Given the description of an element on the screen output the (x, y) to click on. 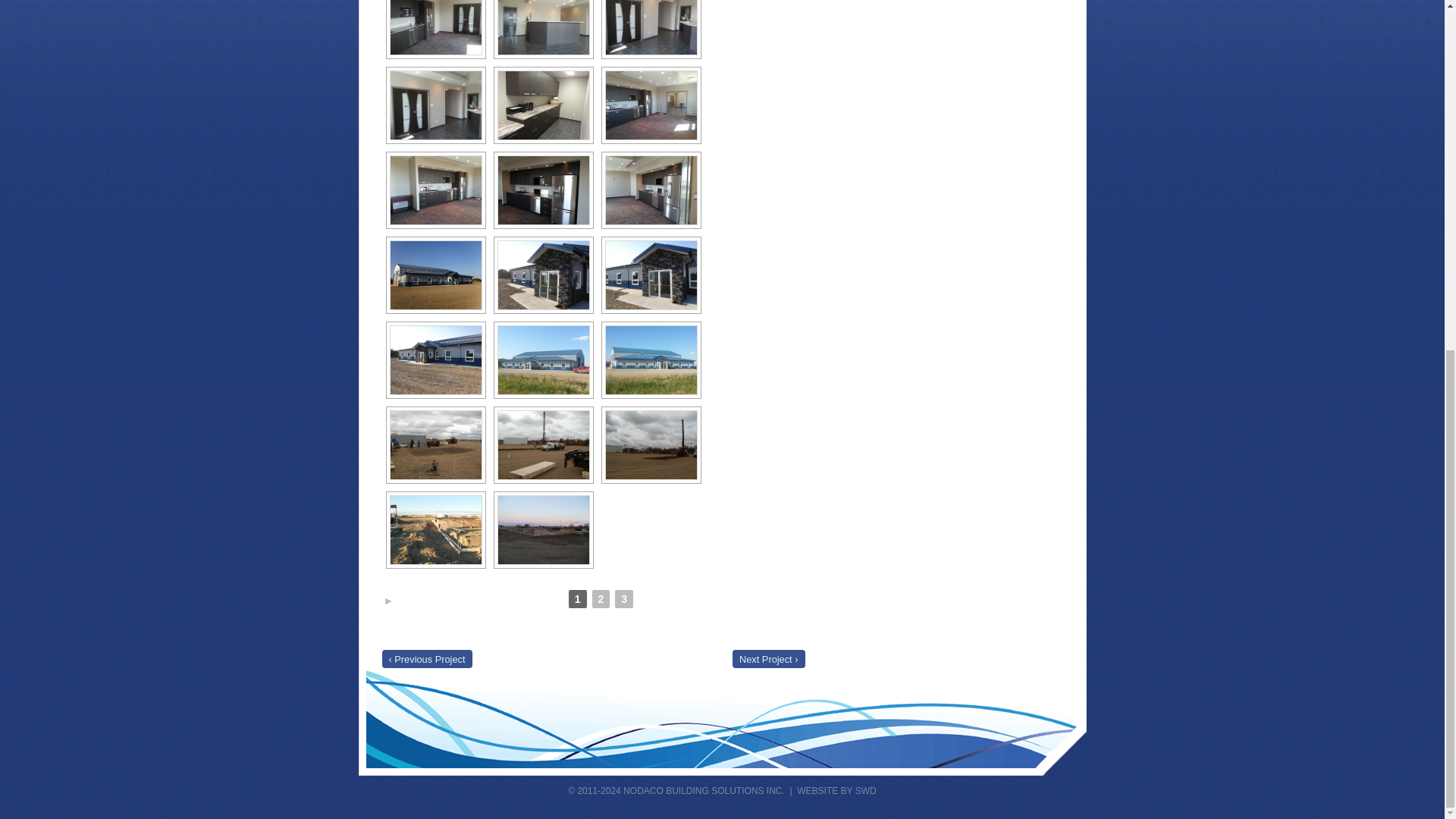
SWD (866, 790)
3 (623, 598)
2 (601, 598)
